Given the description of an element on the screen output the (x, y) to click on. 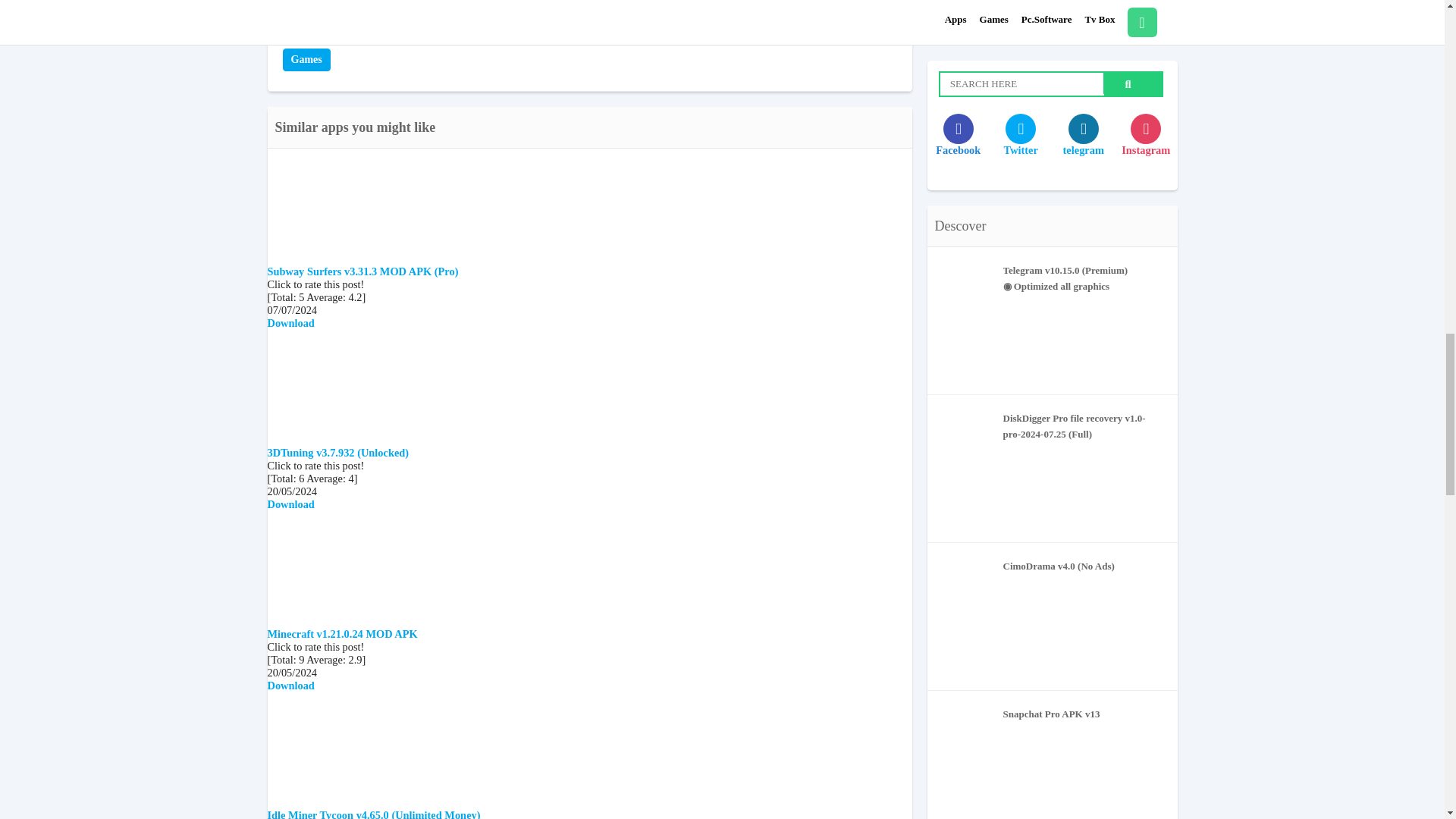
Download (290, 322)
Minecraft v1.21.0.24 MOD APK (380, 621)
Download (290, 503)
Minecraft v1.21.0.24 MOD APK (290, 685)
Games (306, 59)
Similar apps you might like (355, 127)
Minecraft v1.21.0.24 MOD APK (341, 633)
Download (290, 685)
Minecraft v1.21.0.24 MOD APK (341, 633)
